Given the description of an element on the screen output the (x, y) to click on. 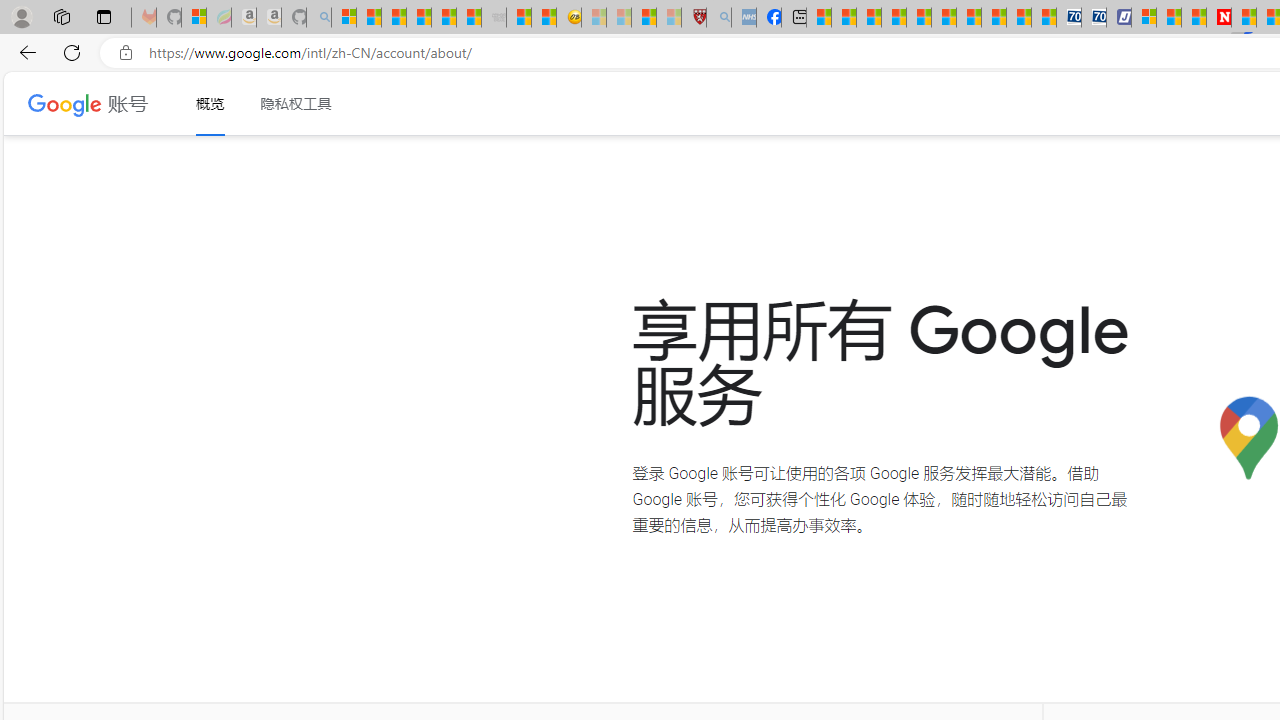
Combat Siege - Sleeping (493, 17)
